Given the description of an element on the screen output the (x, y) to click on. 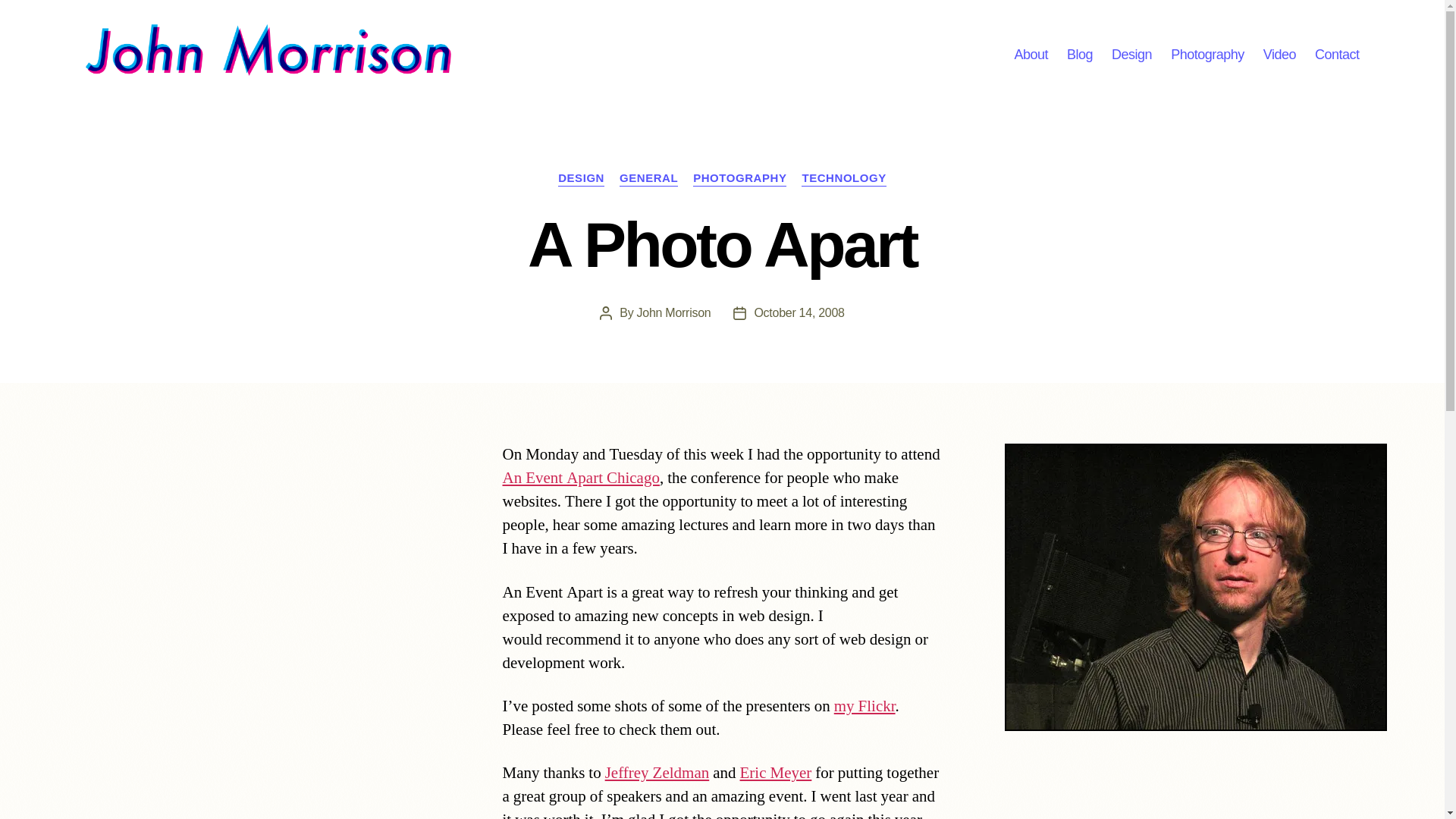
TECHNOLOGY (843, 178)
Photography (1207, 54)
GENERAL (649, 178)
Contact (1336, 54)
John Morrison (674, 312)
Meyerweb.com (775, 772)
PHOTOGRAPHY (739, 178)
zeldman.com (657, 772)
An Event Apart on Flickr (864, 706)
About (1030, 54)
